Given the description of an element on the screen output the (x, y) to click on. 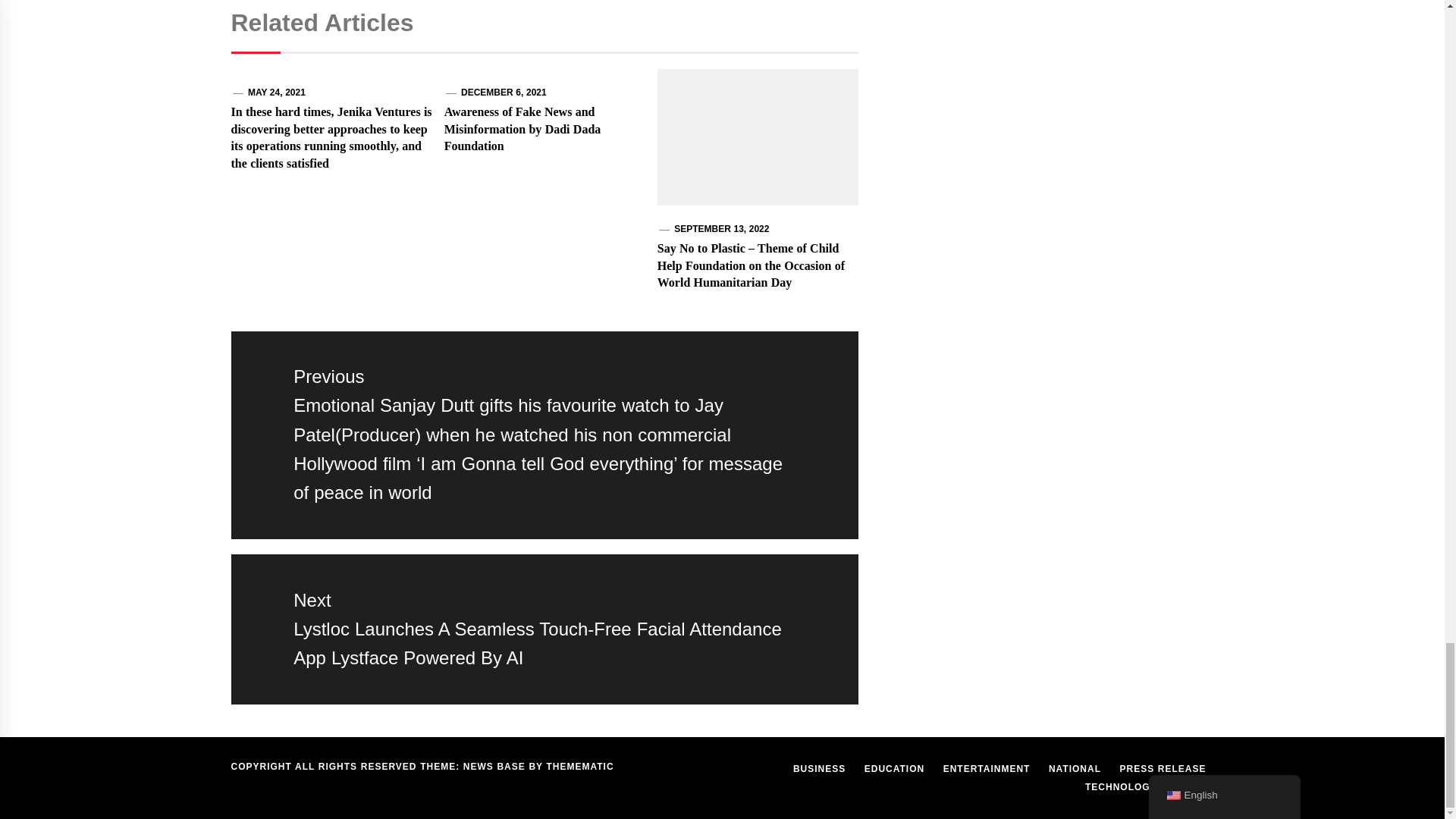
DECEMBER 6, 2021 (504, 91)
SEPTEMBER 13, 2022 (721, 228)
MAY 24, 2021 (276, 91)
